Given the description of an element on the screen output the (x, y) to click on. 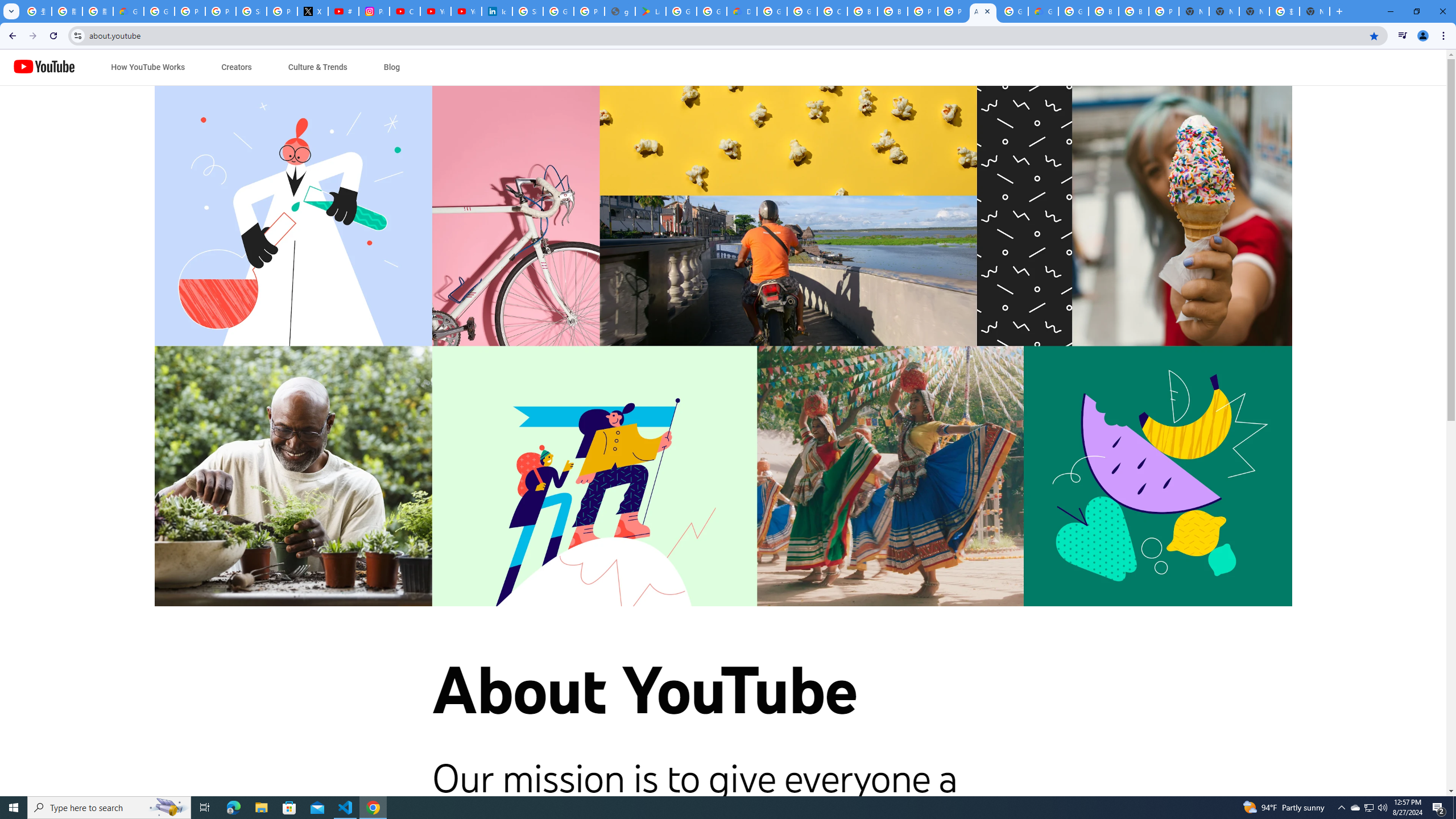
New Tab (1193, 11)
Google Cloud Platform (771, 11)
X (312, 11)
